Given the description of an element on the screen output the (x, y) to click on. 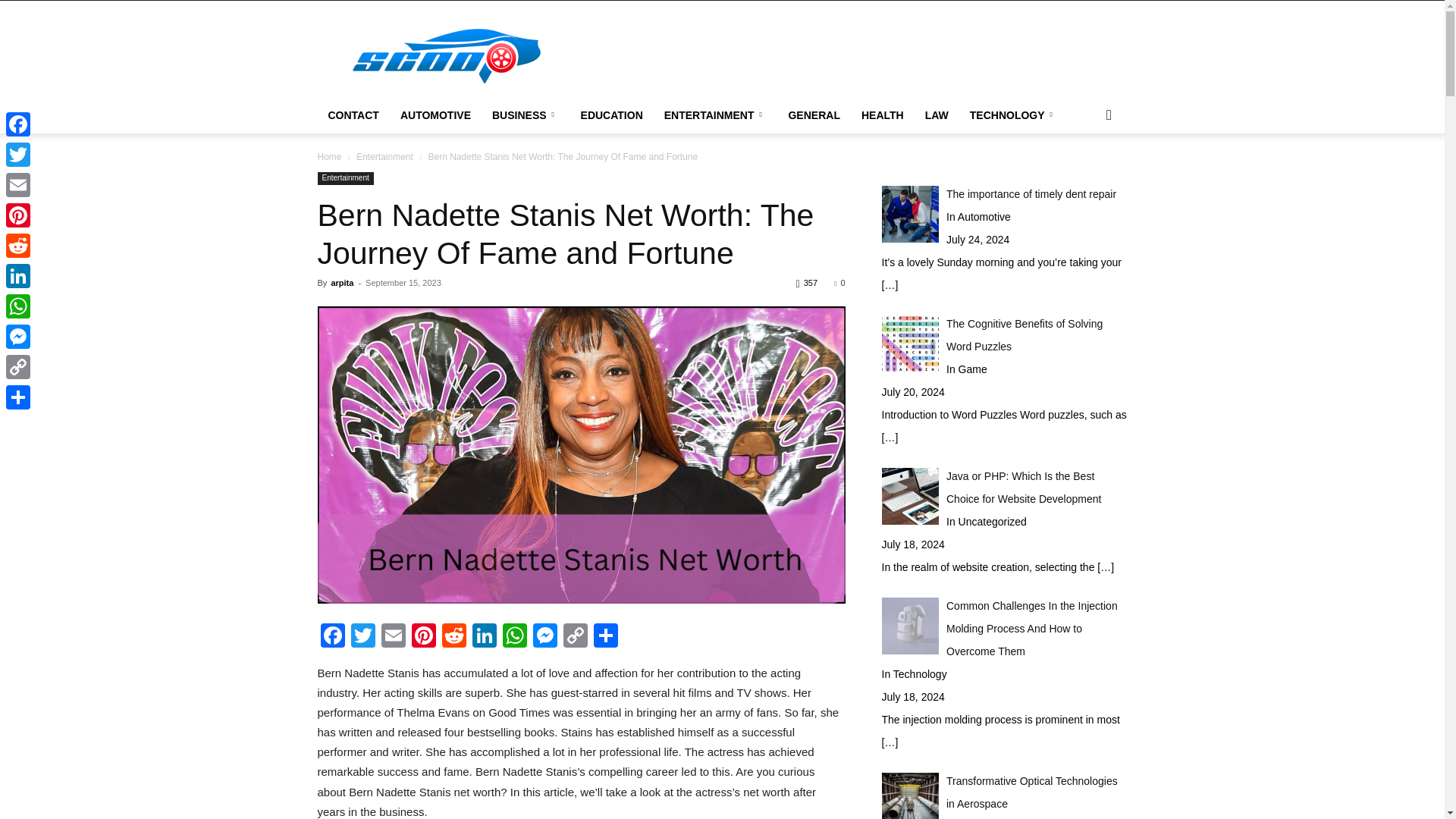
EDUCATION (611, 115)
Twitter (362, 637)
Email (392, 637)
LinkedIn (483, 637)
Pinterest (422, 637)
BUSINESS (525, 115)
Reddit (453, 637)
GENERAL (813, 115)
AUTOMOTIVE (435, 115)
LAW (936, 115)
View all posts in Entertainment (384, 156)
Messenger (544, 637)
HEALTH (882, 115)
Facebook (332, 637)
Copy Link (574, 637)
